Given the description of an element on the screen output the (x, y) to click on. 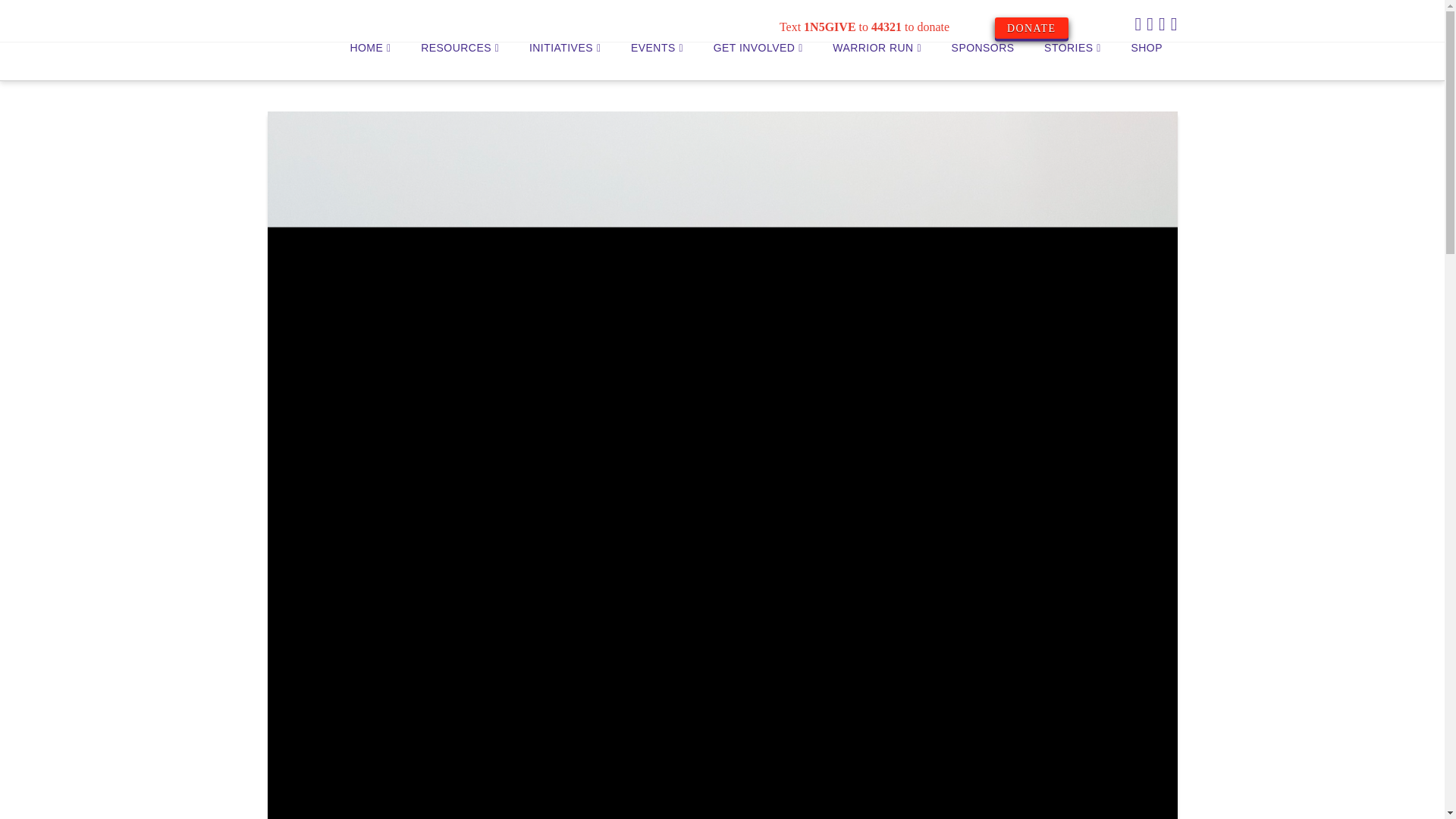
EVENTS (656, 61)
RESOURCES (459, 61)
Donate (1030, 27)
INITIATIVES (564, 61)
DONATE (1030, 27)
HOME (370, 61)
